Given the description of an element on the screen output the (x, y) to click on. 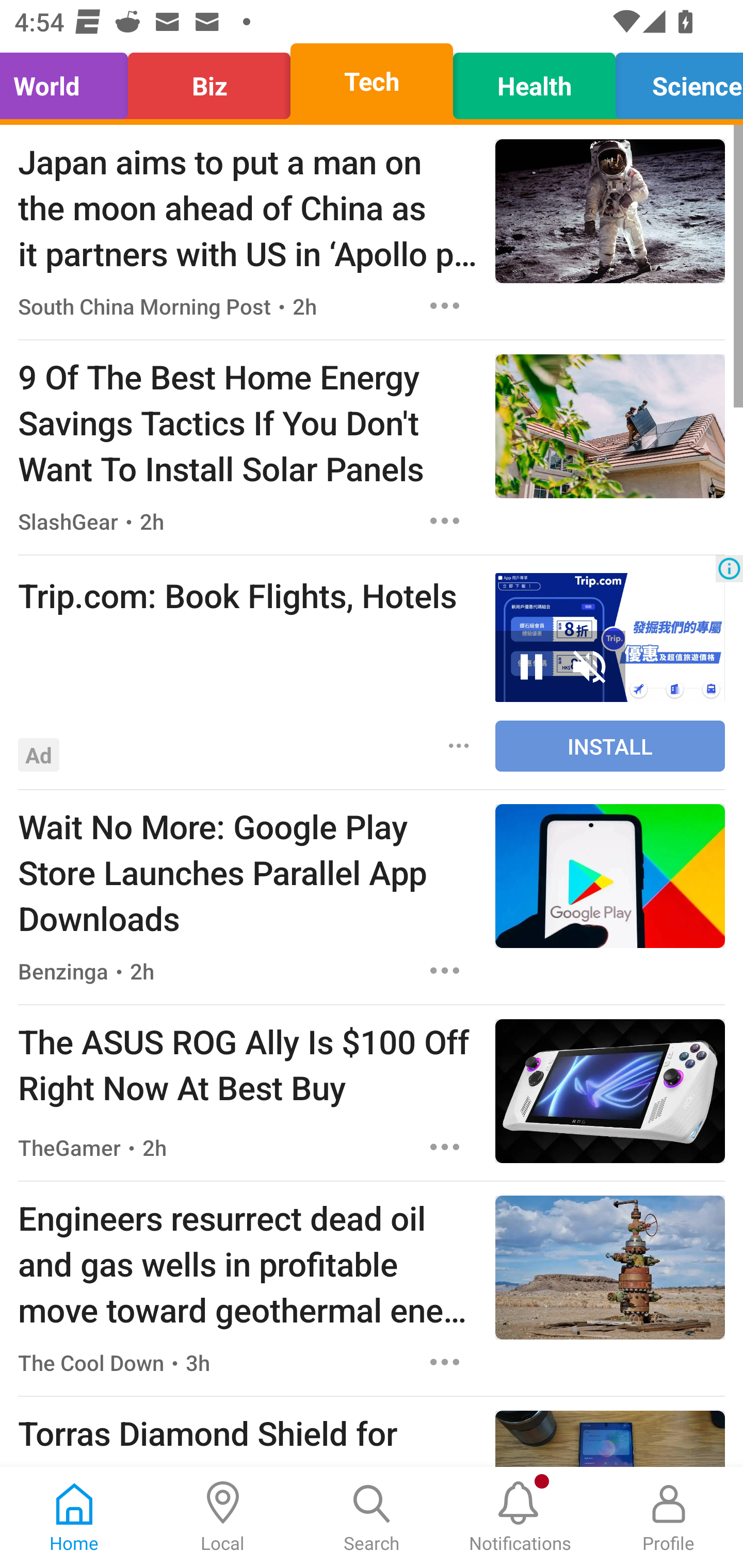
World (69, 81)
Biz (209, 81)
Tech (371, 81)
Health (534, 81)
Science (673, 81)
Options (444, 305)
Options (444, 520)
Ad Choices Icon (729, 568)
Trip.com: Book Flights, Hotels (247, 594)
INSTALL (610, 746)
Options (459, 745)
Options (444, 970)
Options (444, 1146)
Options (444, 1362)
Local (222, 1517)
Search (371, 1517)
Notifications, New notification Notifications (519, 1517)
Profile (668, 1517)
